Given the description of an element on the screen output the (x, y) to click on. 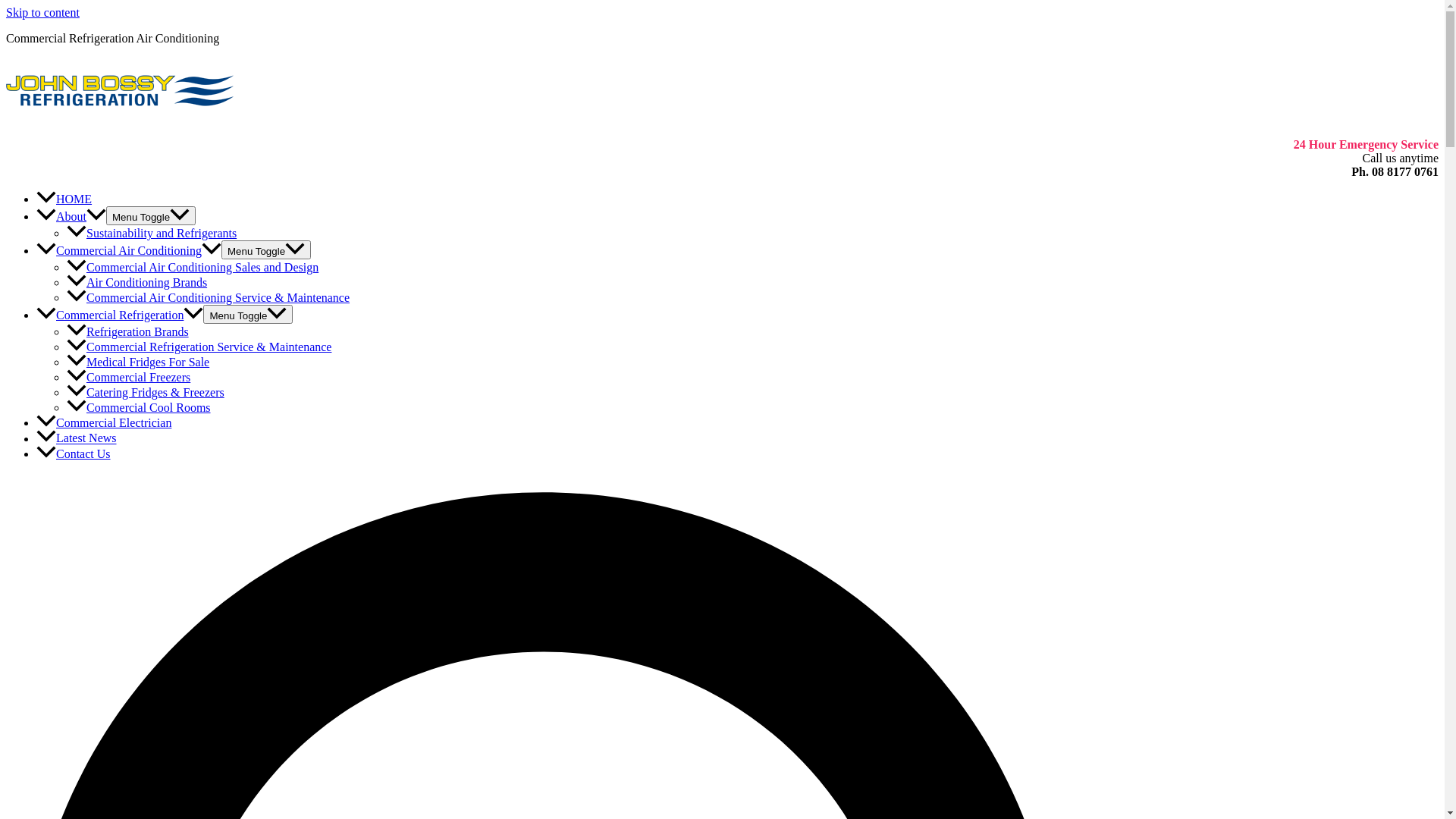
Skip to content Element type: text (42, 12)
Menu Toggle Element type: text (247, 313)
Air Conditioning Brands Element type: text (136, 282)
Commercial Cool Rooms Element type: text (138, 407)
Commercial Electrician Element type: text (103, 422)
Commercial Air Conditioning Service & Maintenance Element type: text (207, 297)
Latest News Element type: text (76, 438)
Commercial Refrigeration Service & Maintenance Element type: text (198, 346)
Commercial Air Conditioning Element type: text (128, 250)
Refrigeration Brands Element type: text (127, 331)
Commercial Refrigeration Element type: text (119, 314)
Medical Fridges For Sale Element type: text (137, 361)
Menu Toggle Element type: text (265, 249)
Commercial Air Conditioning Sales and Design Element type: text (192, 266)
About Element type: text (71, 216)
Catering Fridges & Freezers Element type: text (145, 391)
Sustainability and Refrigerants Element type: text (151, 232)
Menu Toggle Element type: text (150, 215)
Contact Us Element type: text (73, 453)
HOME Element type: text (63, 198)
Commercial Freezers Element type: text (128, 376)
